Given the description of an element on the screen output the (x, y) to click on. 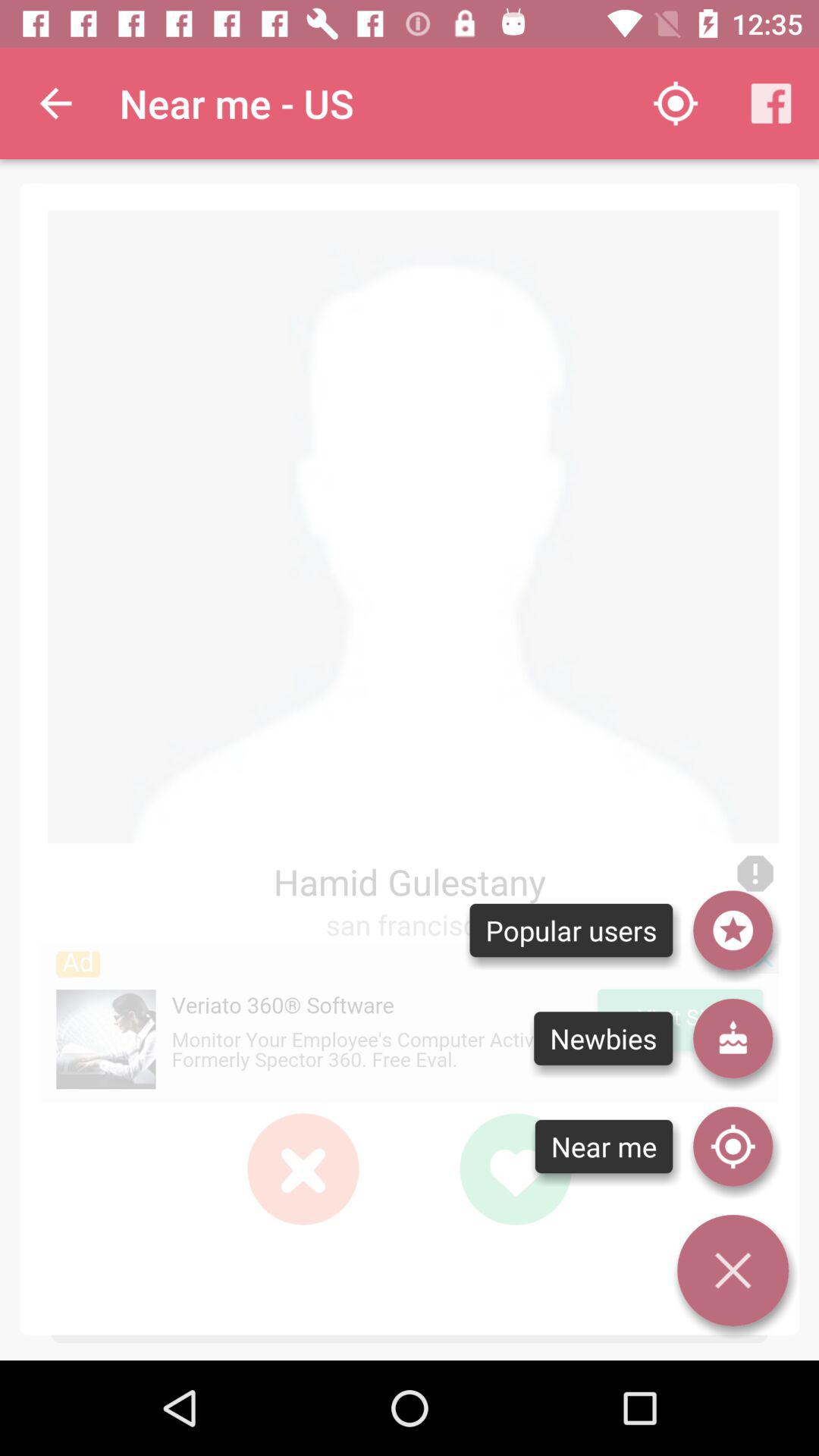
select the icon which on the top right corner (771, 103)
click on the icon right side to near me (732, 1146)
select the newbies option which is below popular users and above near me (603, 1038)
click on red color cross icon which is left to green color heart shape symbol (303, 1169)
click on text below newbies (603, 1146)
